Given the description of an element on the screen output the (x, y) to click on. 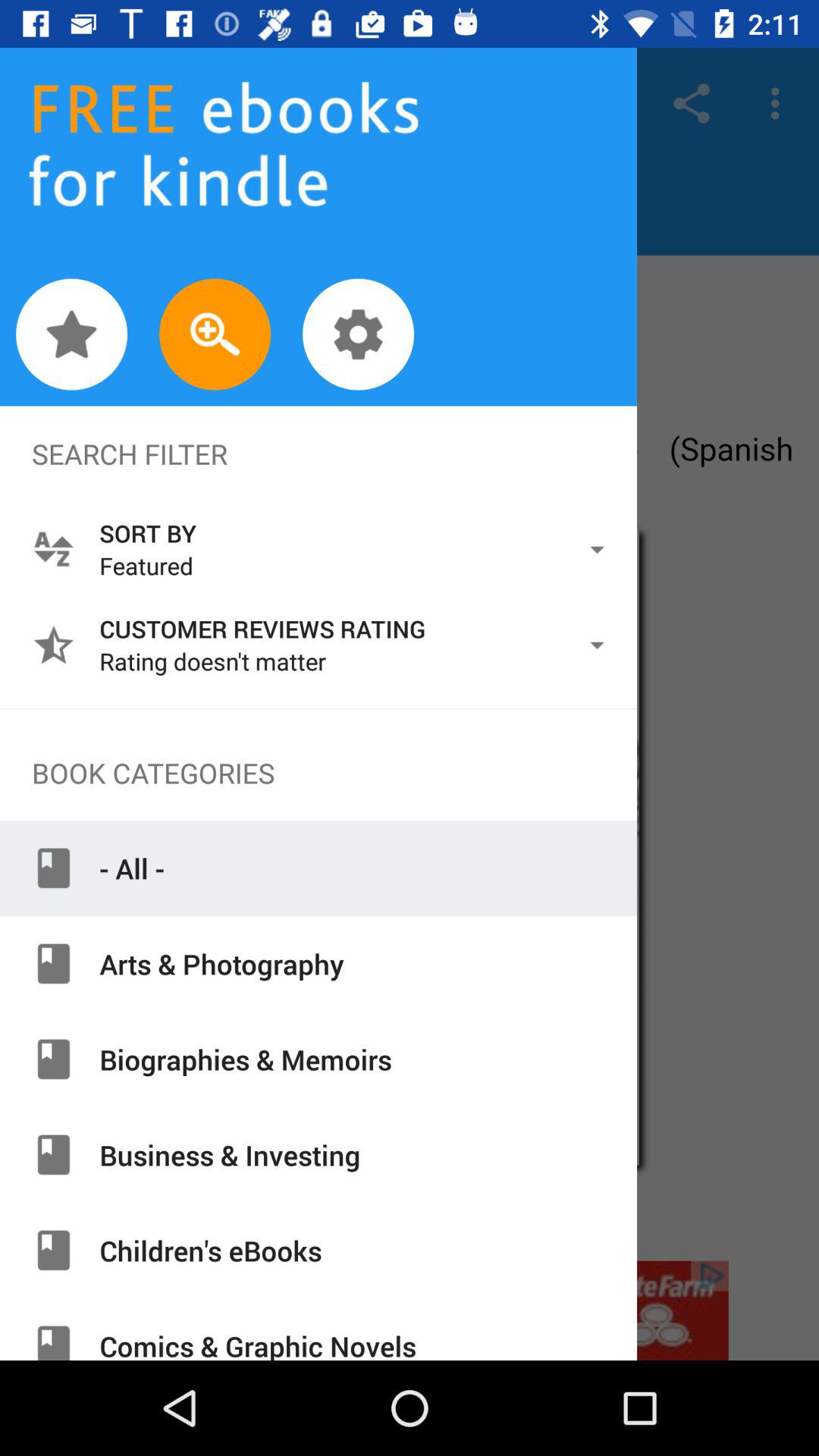
fave rad (71, 334)
